Given the description of an element on the screen output the (x, y) to click on. 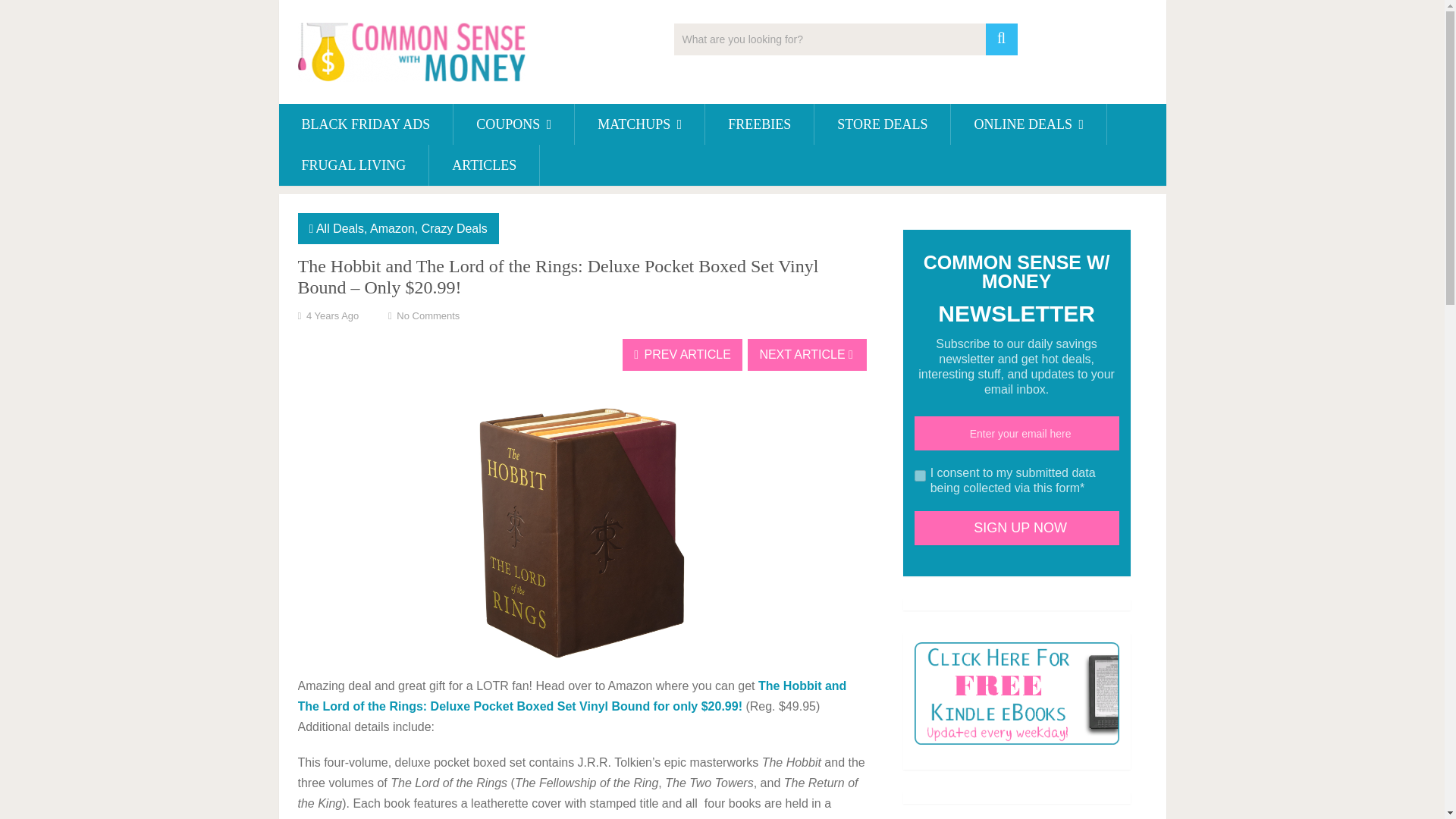
View all posts in Amazon (391, 228)
STORE DEALS (881, 124)
All Deals (339, 228)
View all posts in All Deals (339, 228)
Crazy Deals (454, 228)
FREEBIES (758, 124)
NEXT ARTICLE (807, 355)
COUPONS (512, 124)
ONLINE DEALS (1027, 124)
FRUGAL LIVING (354, 164)
